Given the description of an element on the screen output the (x, y) to click on. 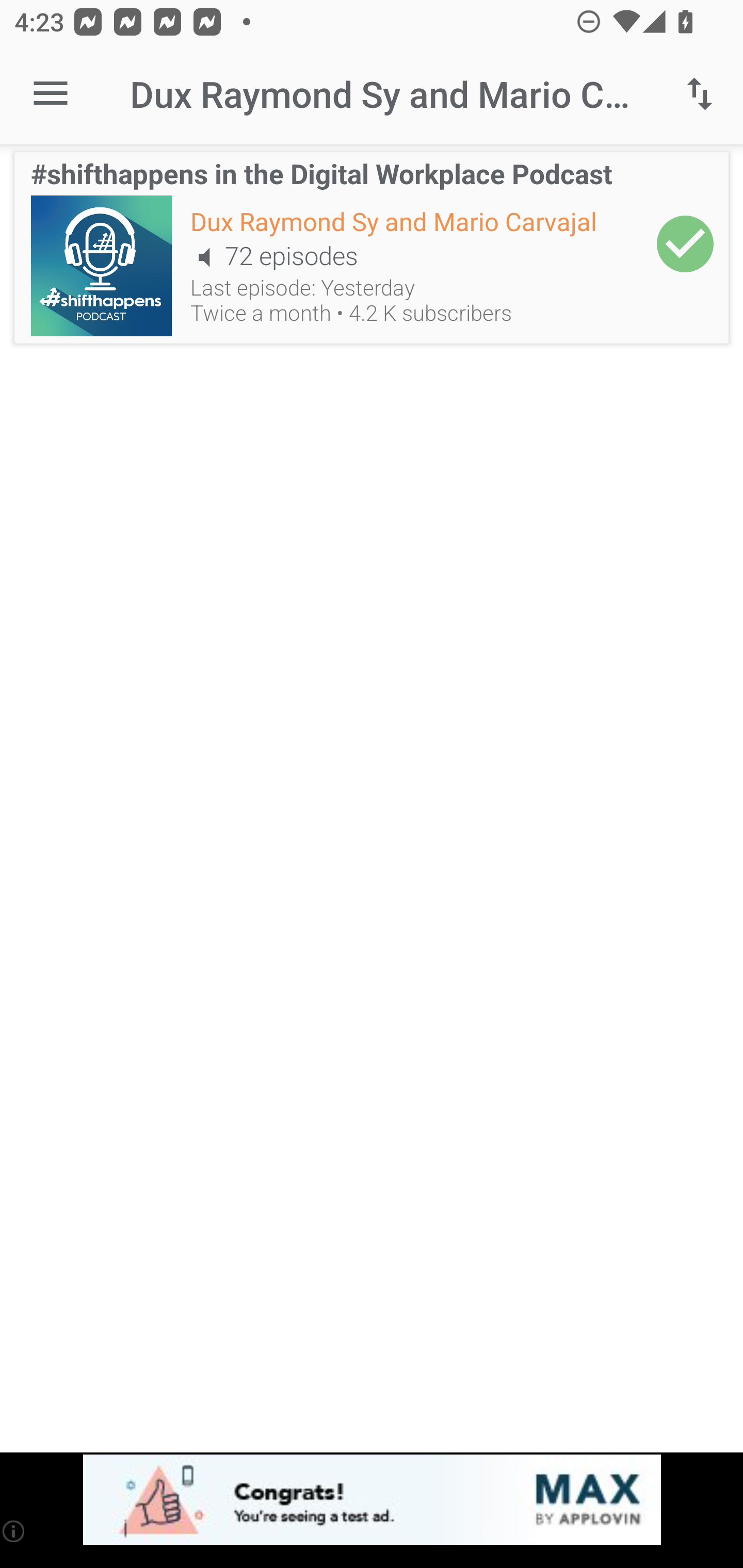
Open navigation sidebar (50, 93)
Sort (699, 93)
Add (684, 243)
app-monetization (371, 1500)
(i) (14, 1531)
